Given the description of an element on the screen output the (x, y) to click on. 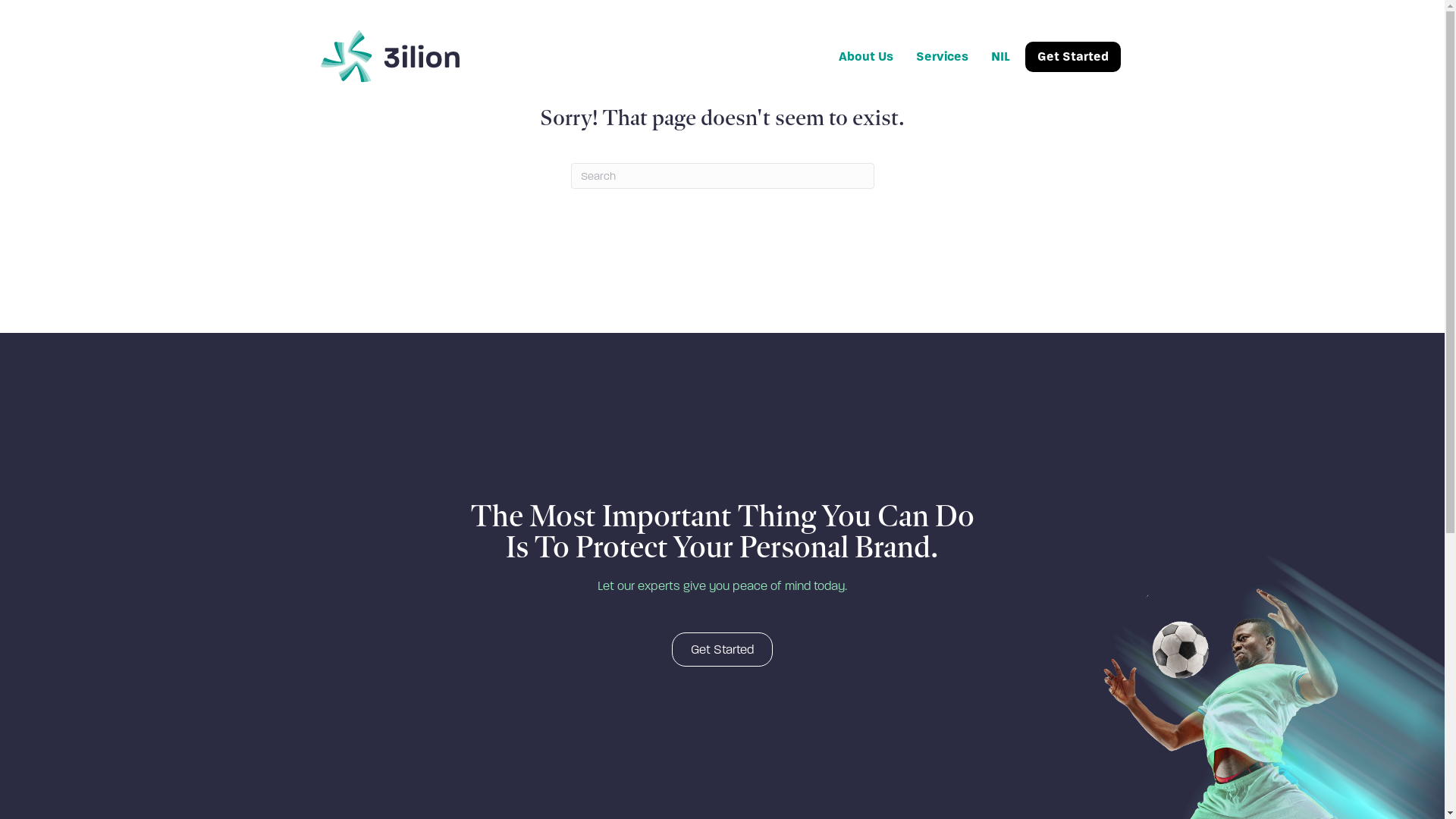
Services Element type: text (941, 55)
NIL Element type: text (999, 55)
Type and press Enter to search. Element type: hover (721, 175)
Get Started Element type: text (1072, 55)
About Us Element type: text (865, 55)
Get Started Element type: text (721, 649)
Group 57 Element type: hover (389, 56)
